Given the description of an element on the screen output the (x, y) to click on. 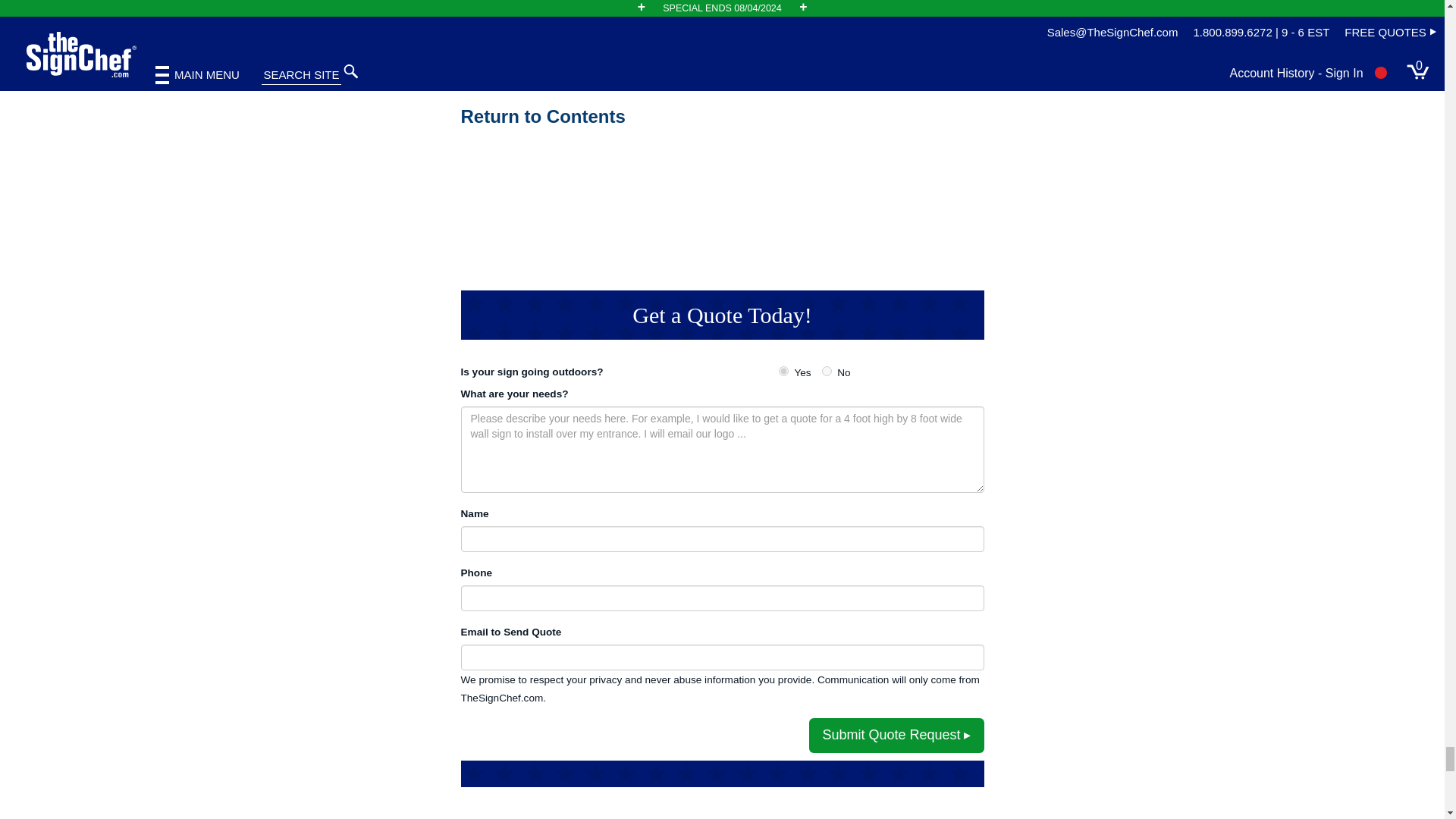
Yes (783, 370)
No (826, 370)
